Given the description of an element on the screen output the (x, y) to click on. 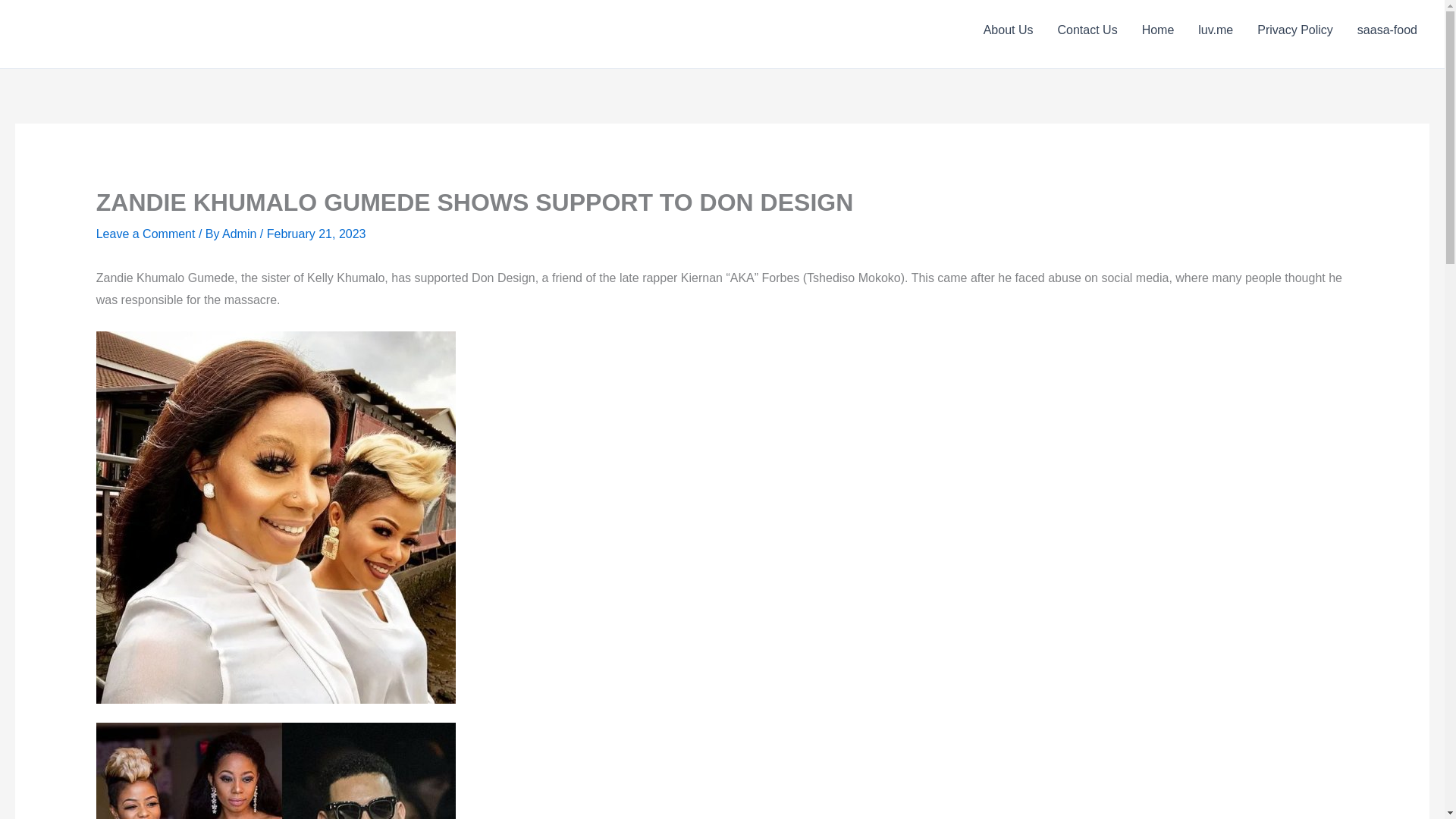
luv.me (1215, 30)
Privacy Policy (1294, 30)
Home (1157, 30)
View all posts by Admin (241, 233)
saasa-food (1387, 30)
Contact Us (1087, 30)
Leave a Comment (145, 233)
Admin (241, 233)
About Us (1008, 30)
